Given the description of an element on the screen output the (x, y) to click on. 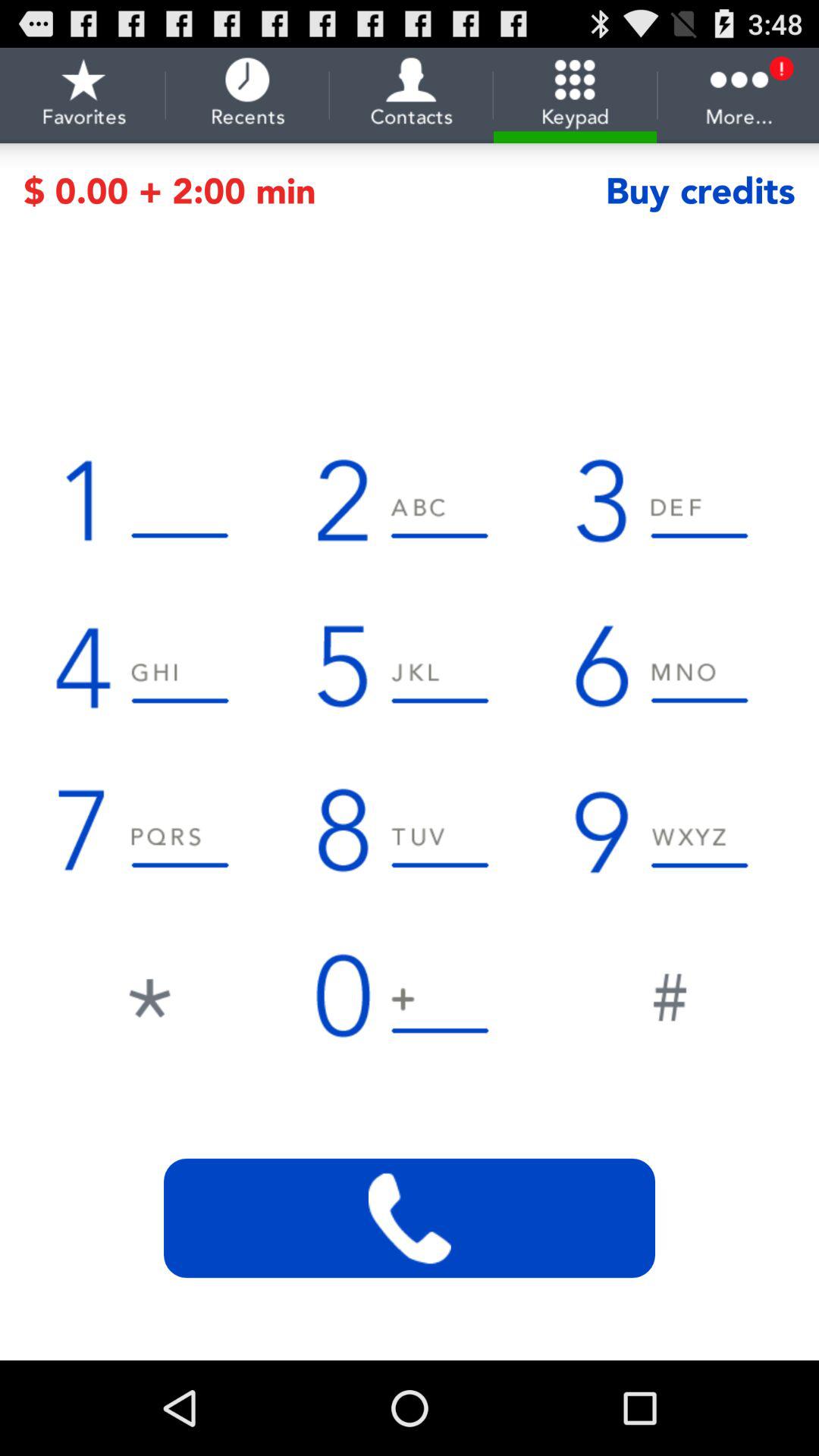
open buy credits button (700, 190)
